Given the description of an element on the screen output the (x, y) to click on. 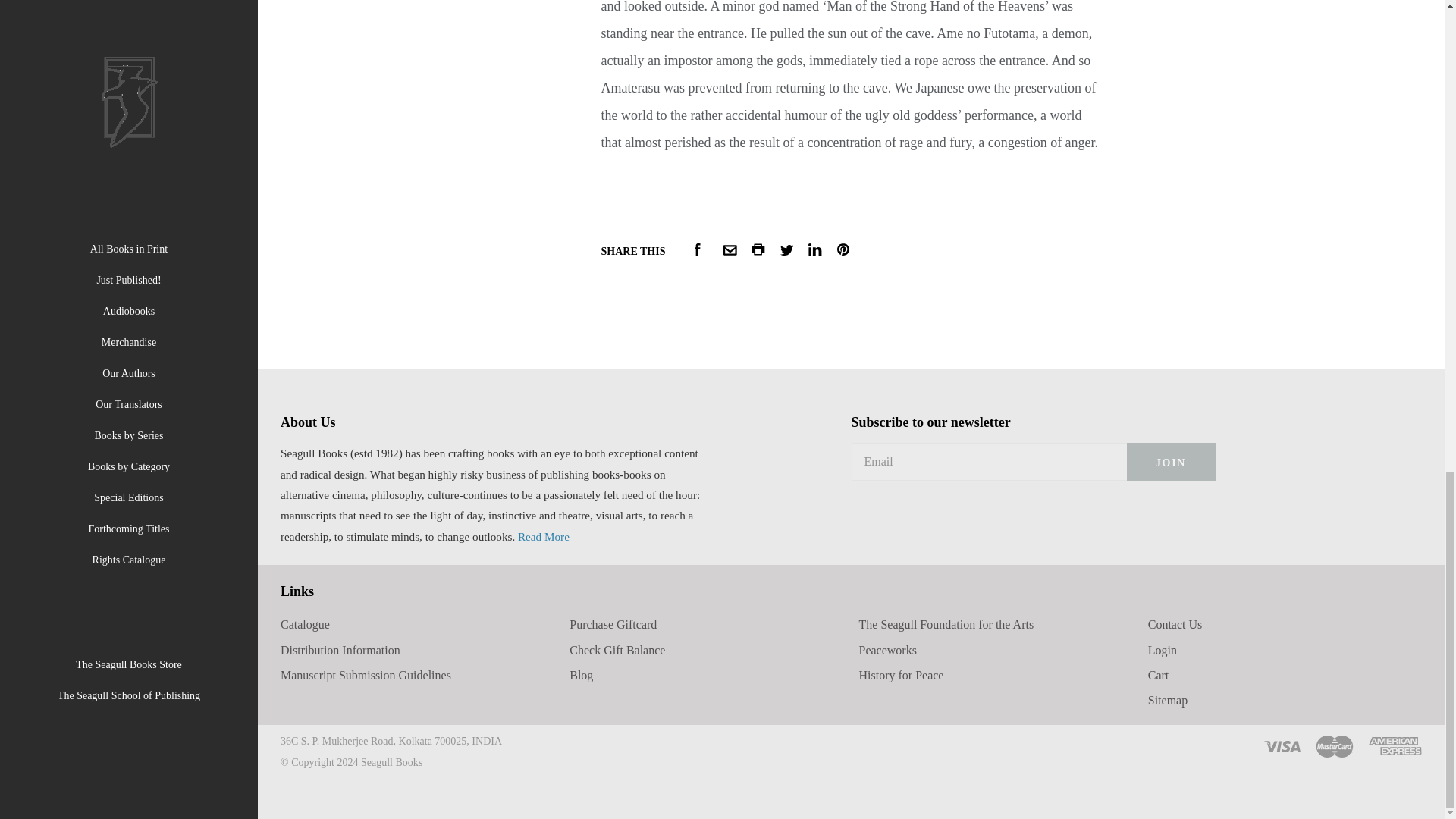
PINTEREST (842, 249)
FACEBOOK (697, 249)
LINKEDIN (815, 249)
PRINT (758, 249)
EMAIL (729, 249)
TWITTER (786, 249)
Join (1170, 461)
